Given the description of an element on the screen output the (x, y) to click on. 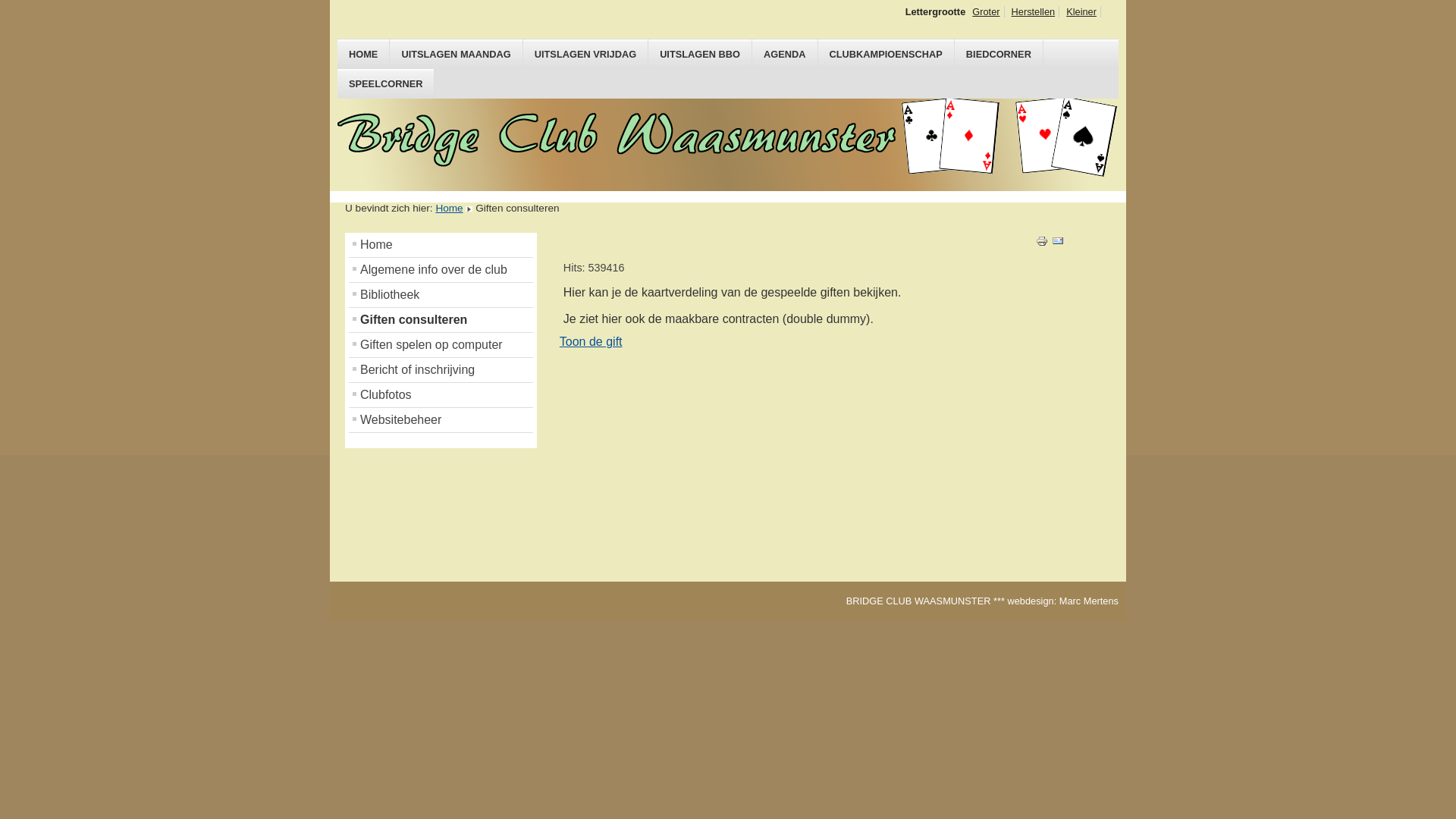
UITSLAGEN BBO Element type: text (700, 54)
Clubfotos Element type: text (440, 394)
SPEELCORNER Element type: text (385, 83)
Toon de gift Element type: text (590, 341)
Bibliotheek Element type: text (440, 294)
Kleiner Element type: text (1081, 11)
AGENDA Element type: text (784, 54)
Giften consulteren Element type: text (440, 319)
Websitebeheer Element type: text (440, 419)
CLUBKAMPIOENSCHAP Element type: text (886, 54)
HOME Element type: text (363, 54)
E-mail Element type: hover (1057, 242)
Afdrukken Element type: hover (1041, 242)
Bericht of inschrijving Element type: text (440, 369)
Home Element type: text (448, 207)
Algemene info over de club Element type: text (440, 269)
UITSLAGEN MAANDAG Element type: text (455, 54)
UITSLAGEN VRIJDAG Element type: text (585, 54)
Groter Element type: text (986, 11)
BIEDCORNER Element type: text (998, 54)
Herstellen Element type: text (1033, 11)
Giften spelen op computer Element type: text (440, 344)
Home Element type: text (440, 244)
